Given the description of an element on the screen output the (x, y) to click on. 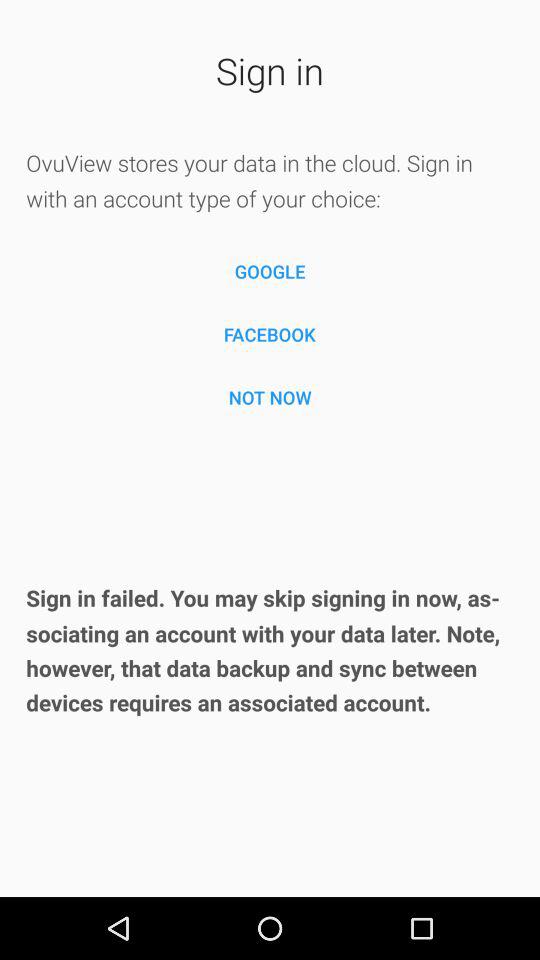
press the icon below the ovuview stores your icon (269, 271)
